Given the description of an element on the screen output the (x, y) to click on. 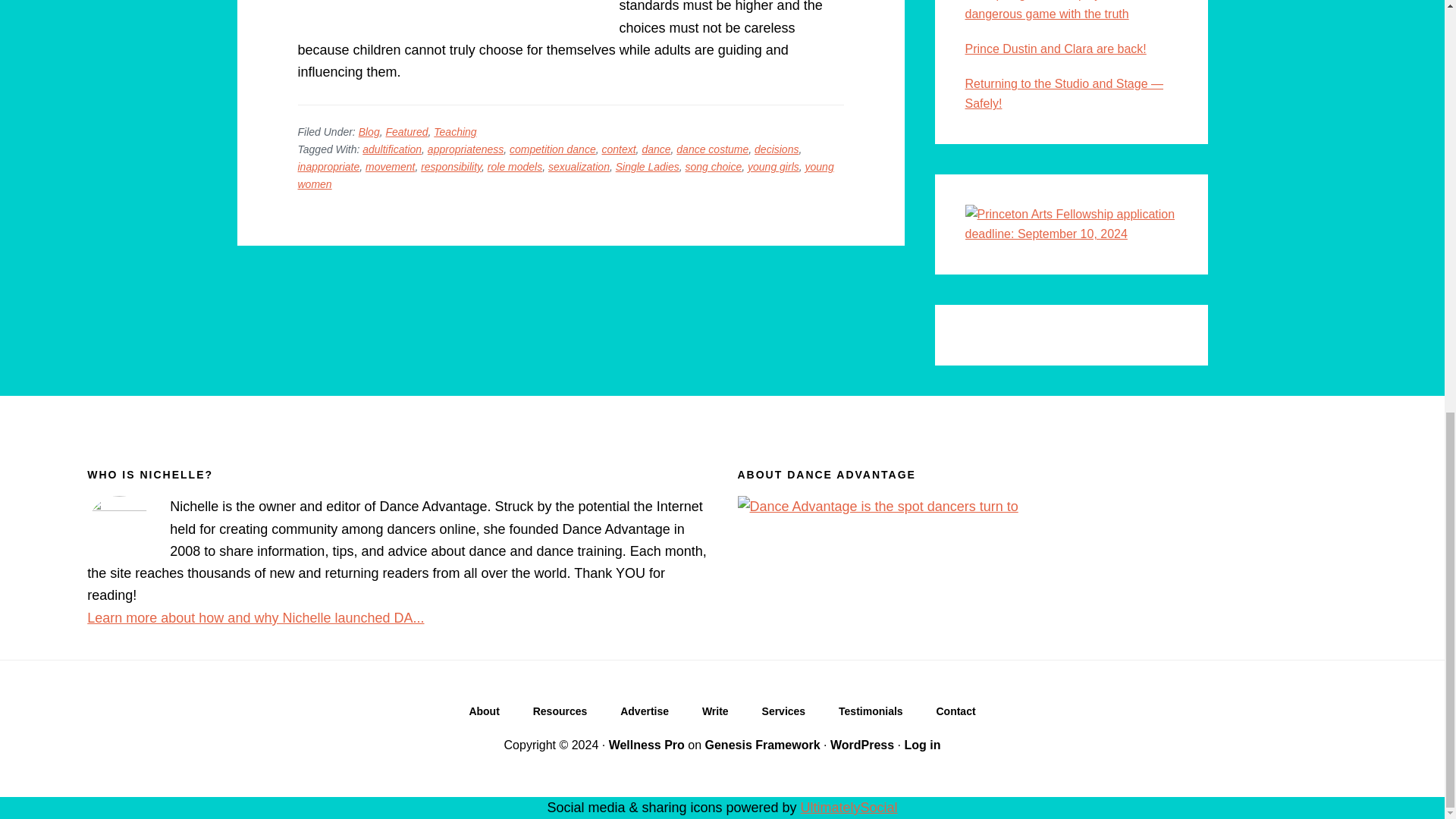
Stuff we use and like (560, 714)
Blog (369, 132)
dance (655, 149)
Teaching (454, 132)
responsibility (450, 166)
decisions (775, 149)
Single Ladies (647, 166)
appropriateness (465, 149)
movement (389, 166)
role models (514, 166)
